Given the description of an element on the screen output the (x, y) to click on. 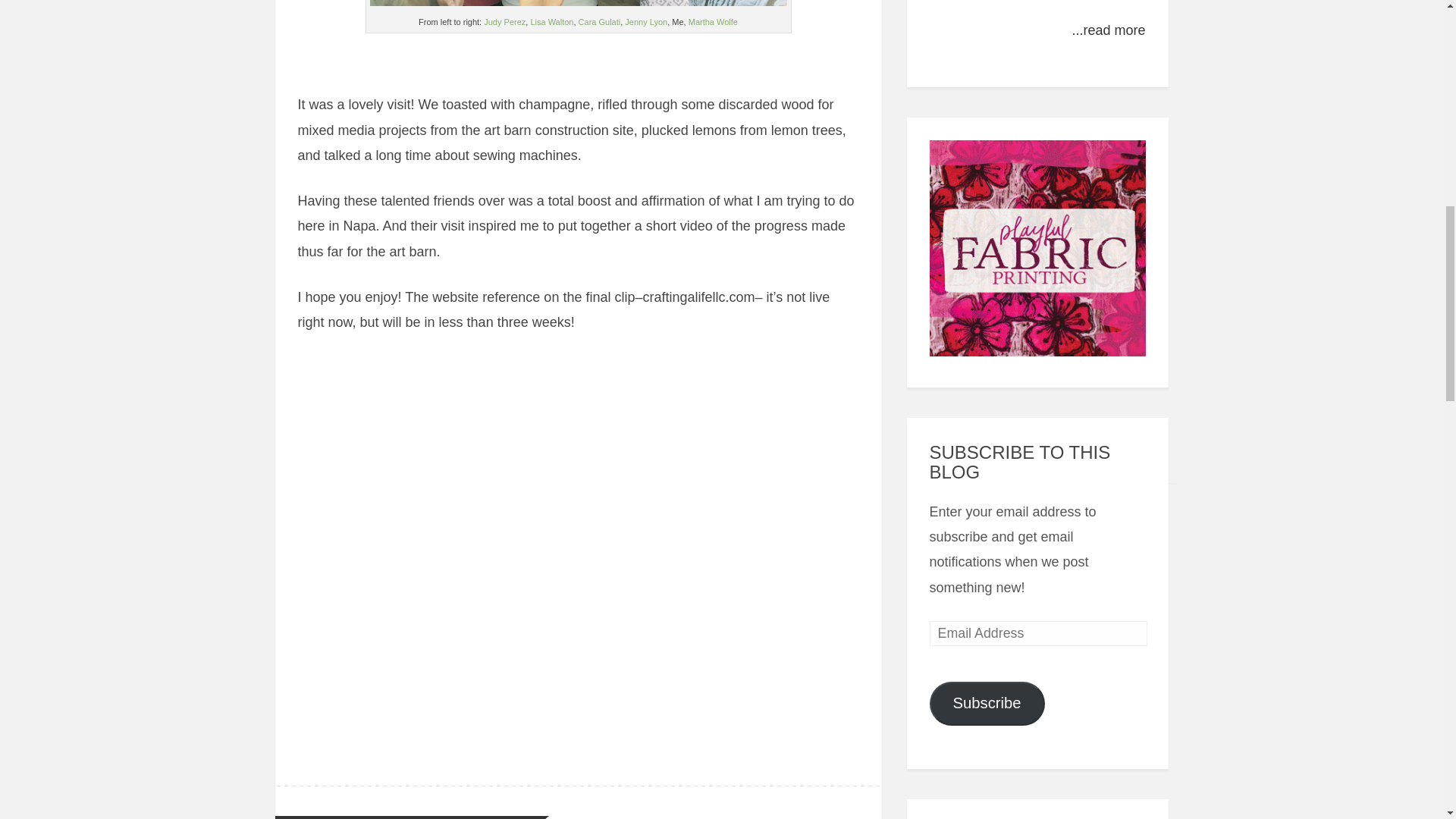
Martha Wolfe (713, 21)
Lisa Walton (551, 21)
Cara Gulati (599, 21)
...read more (1107, 29)
Jenny Lyon (645, 21)
Judy Perez (504, 21)
Subscribe (987, 703)
